Given the description of an element on the screen output the (x, y) to click on. 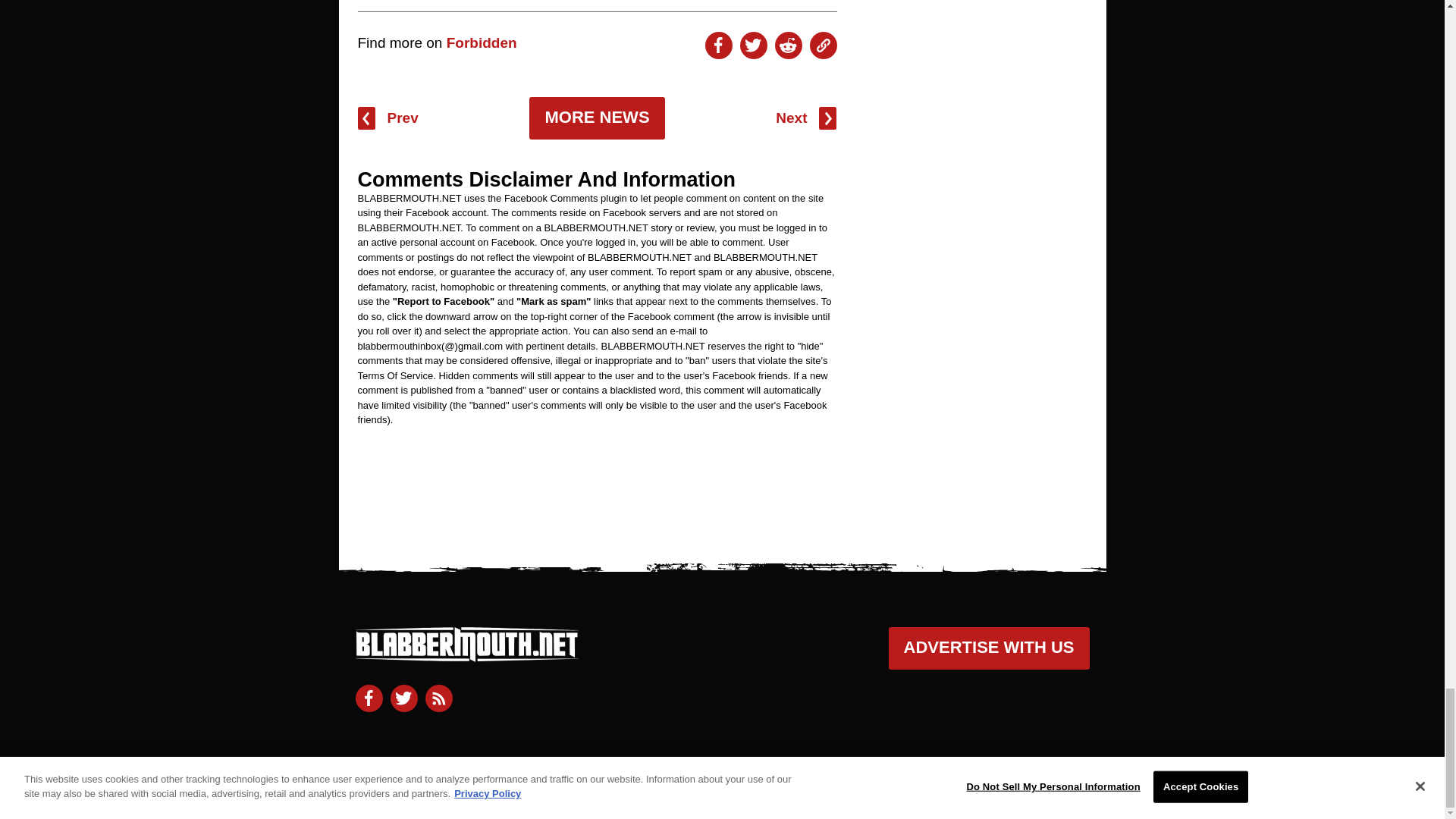
MORE NEWS (596, 118)
Share On Reddit (788, 44)
Share On Facebook (718, 44)
Next (805, 118)
Prev (388, 118)
Share On Twitter (753, 44)
blabbermouth (466, 655)
Forbidden (481, 42)
Copy To Clipboard (823, 44)
